Given the description of an element on the screen output the (x, y) to click on. 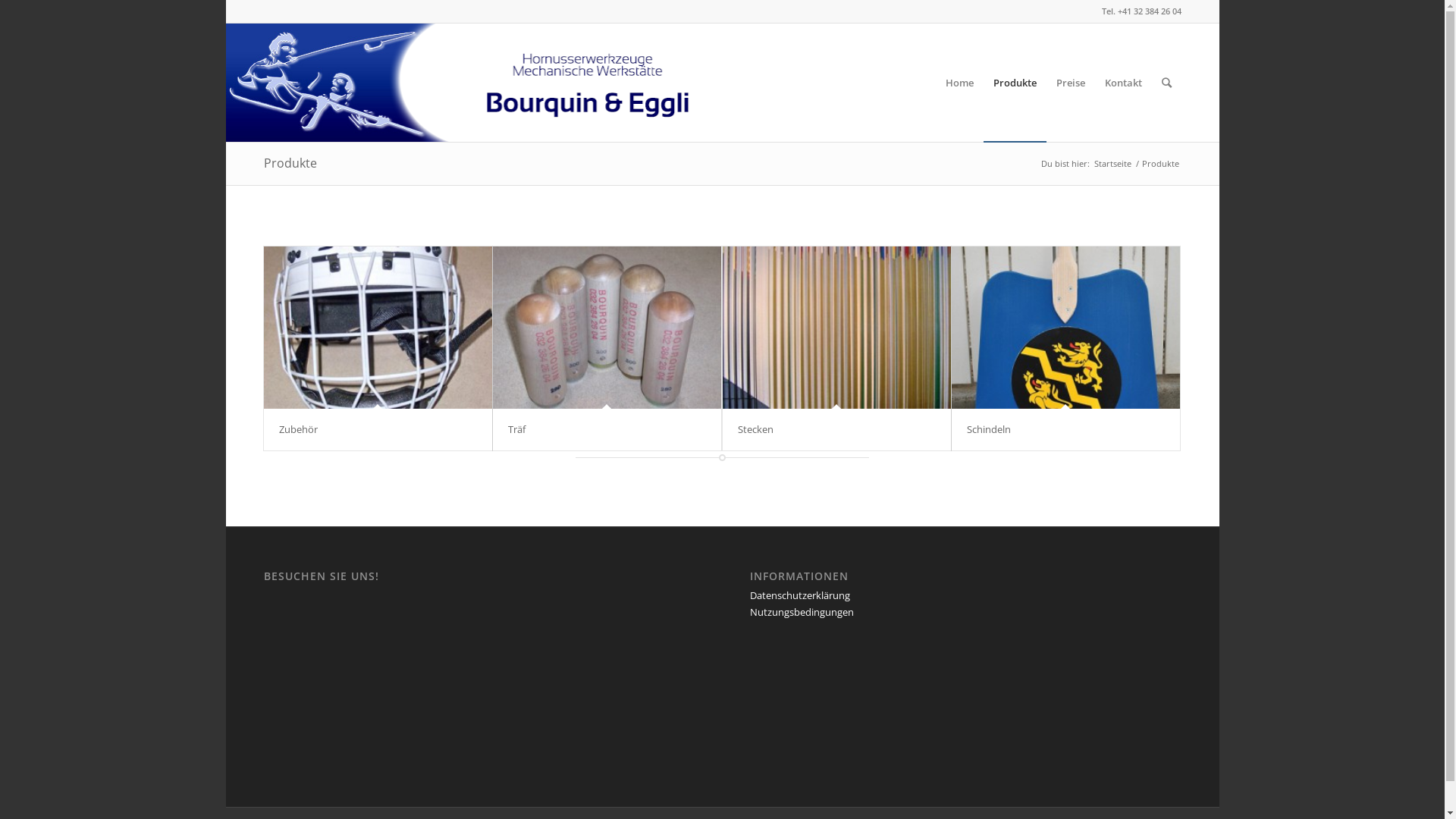
Home Element type: text (959, 82)
Produkte Element type: text (1013, 82)
Kontakt Element type: text (1123, 82)
Stecken Element type: text (754, 429)
Nutzungsbedingungen Element type: text (801, 611)
Preise Element type: text (1070, 82)
Schindeln Element type: hover (1064, 327)
Schindeln Element type: text (988, 429)
Stecken Element type: hover (835, 327)
Produkte Element type: text (289, 162)
Startseite Element type: text (1112, 163)
